Given the description of an element on the screen output the (x, y) to click on. 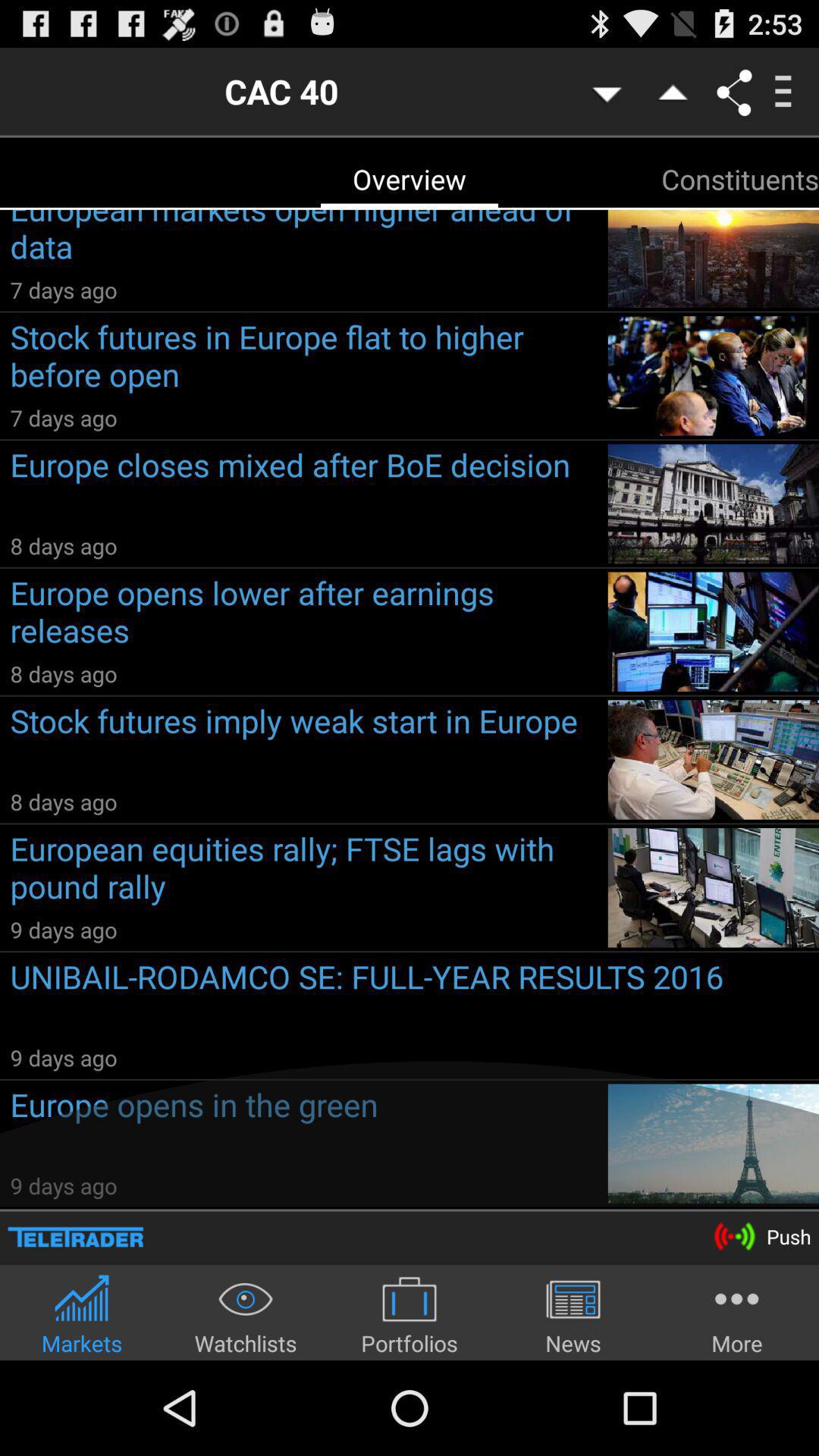
choose the item next to portfolios (573, 1314)
